Given the description of an element on the screen output the (x, y) to click on. 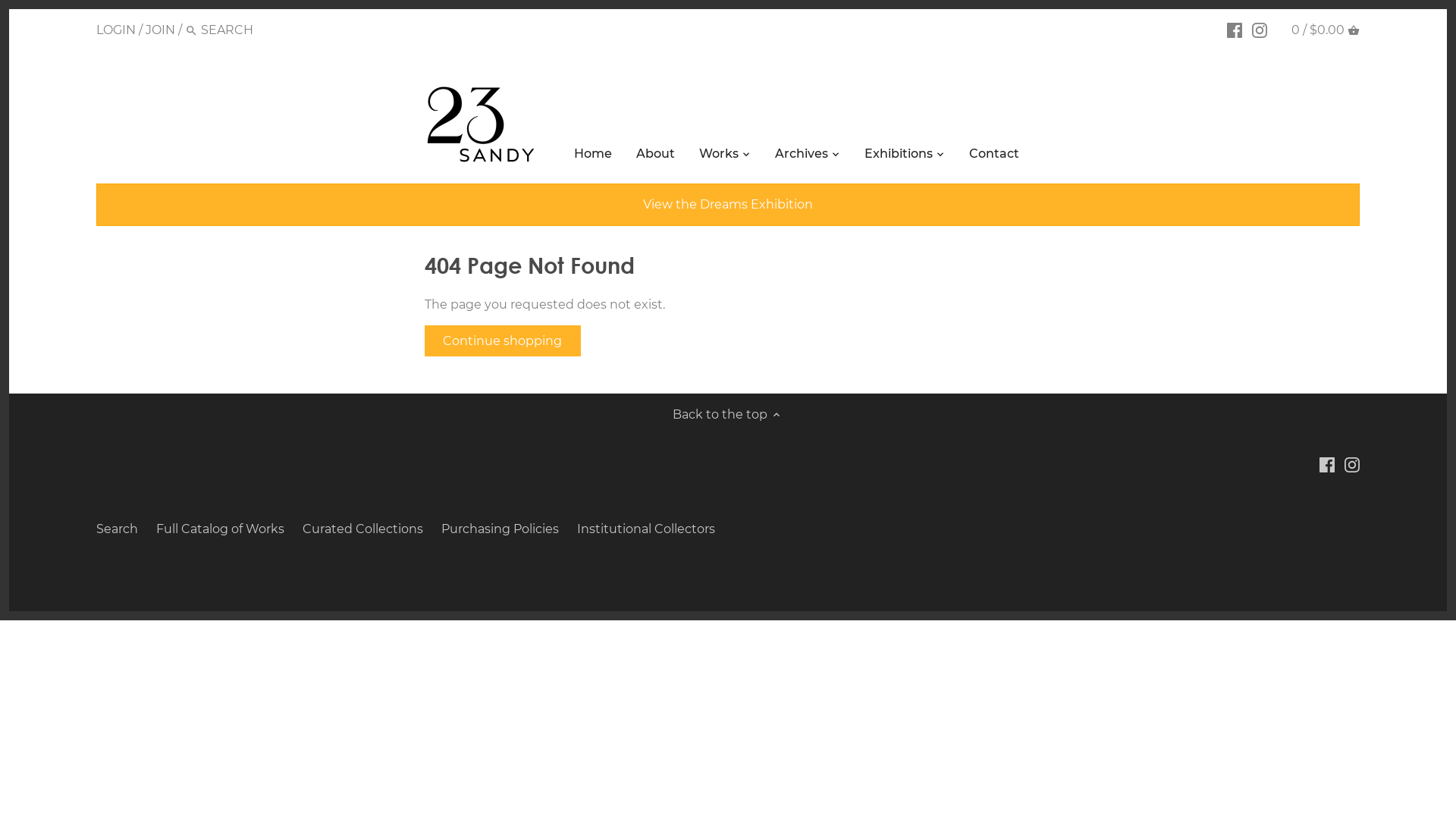
View the Dreams Exhibition Element type: text (727, 204)
LOGIN Element type: text (115, 29)
Instagram Element type: text (1351, 463)
Back to the top Element type: text (727, 414)
Continue shopping Element type: text (502, 340)
Institutional Collectors Element type: text (646, 528)
Exhibitions Element type: text (898, 156)
JOIN Element type: text (160, 29)
Archives Element type: text (801, 156)
Full Catalog of Works Element type: text (220, 528)
Facebook Element type: text (1326, 463)
Curated Collections Element type: text (362, 528)
Works Element type: text (718, 156)
Search Element type: text (191, 31)
INSTAGRAM Element type: text (1259, 29)
0 / $0.00 CART Element type: text (1325, 29)
Search Element type: text (117, 528)
About Element type: text (655, 156)
Home Element type: text (592, 156)
Contact Element type: text (994, 156)
Purchasing Policies Element type: text (499, 528)
FACEBOOK Element type: text (1234, 29)
